Given the description of an element on the screen output the (x, y) to click on. 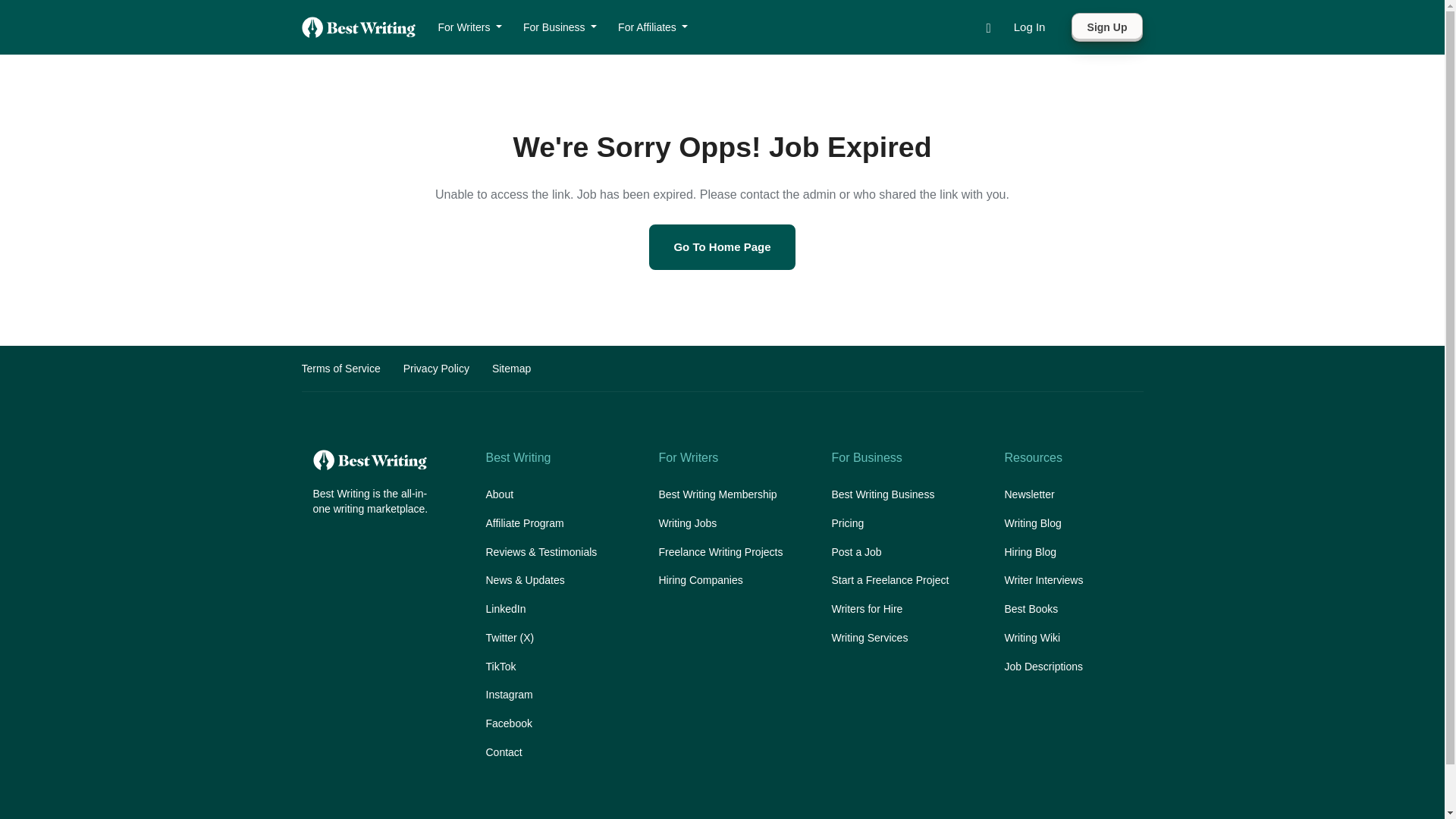
For Business (559, 27)
For Writers (470, 27)
Log In (1029, 26)
Sign Up (1106, 27)
For Affiliates (652, 27)
